Given the description of an element on the screen output the (x, y) to click on. 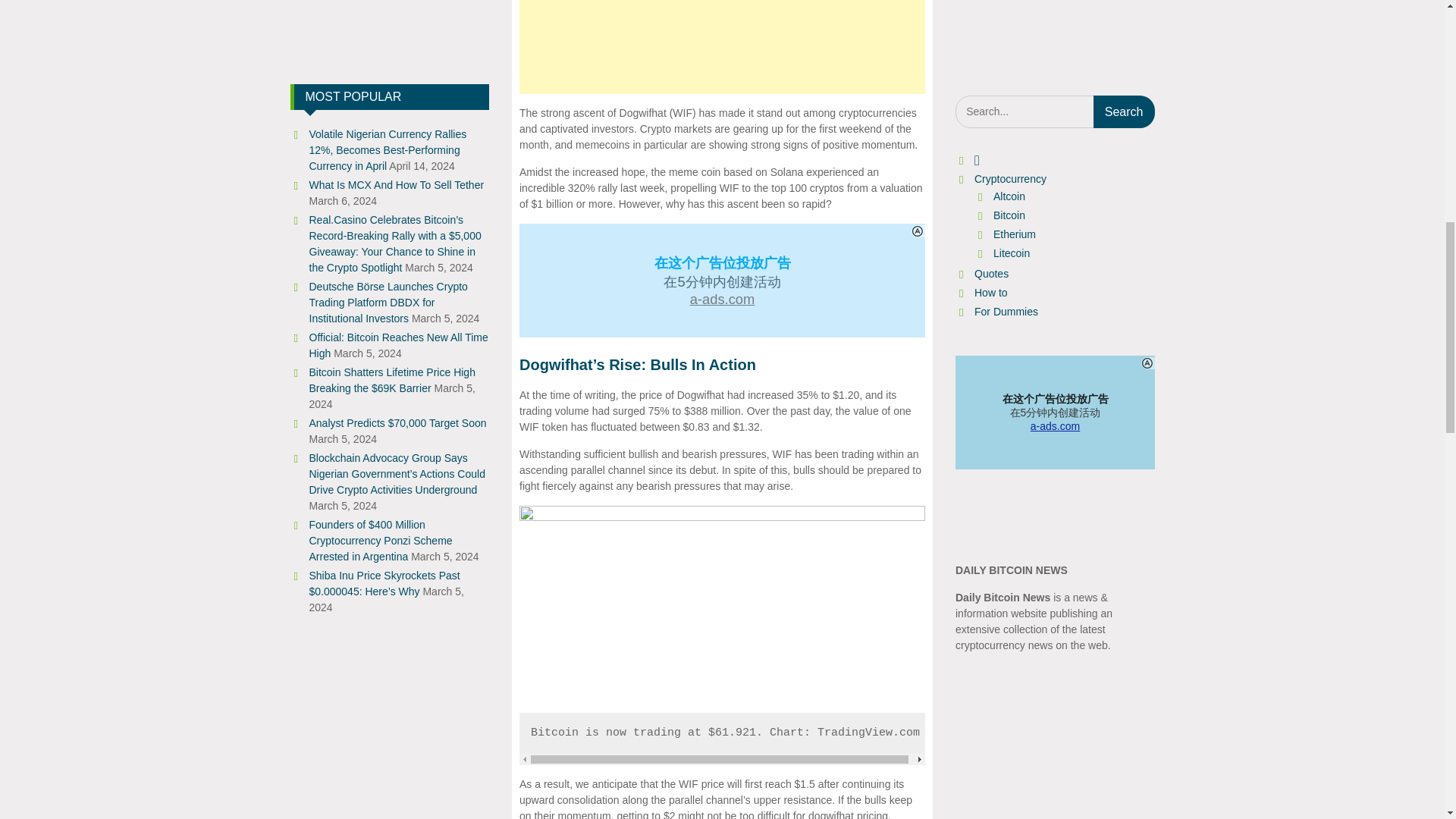
Search (1123, 111)
What Is MCX And How To Sell Tether  (397, 184)
Search for: (1054, 111)
Advertisement (721, 47)
Search (1123, 111)
Advertisement (1054, 28)
Advertisement (389, 22)
Official: Bitcoin Reaches New All Time High (397, 345)
